Given the description of an element on the screen output the (x, y) to click on. 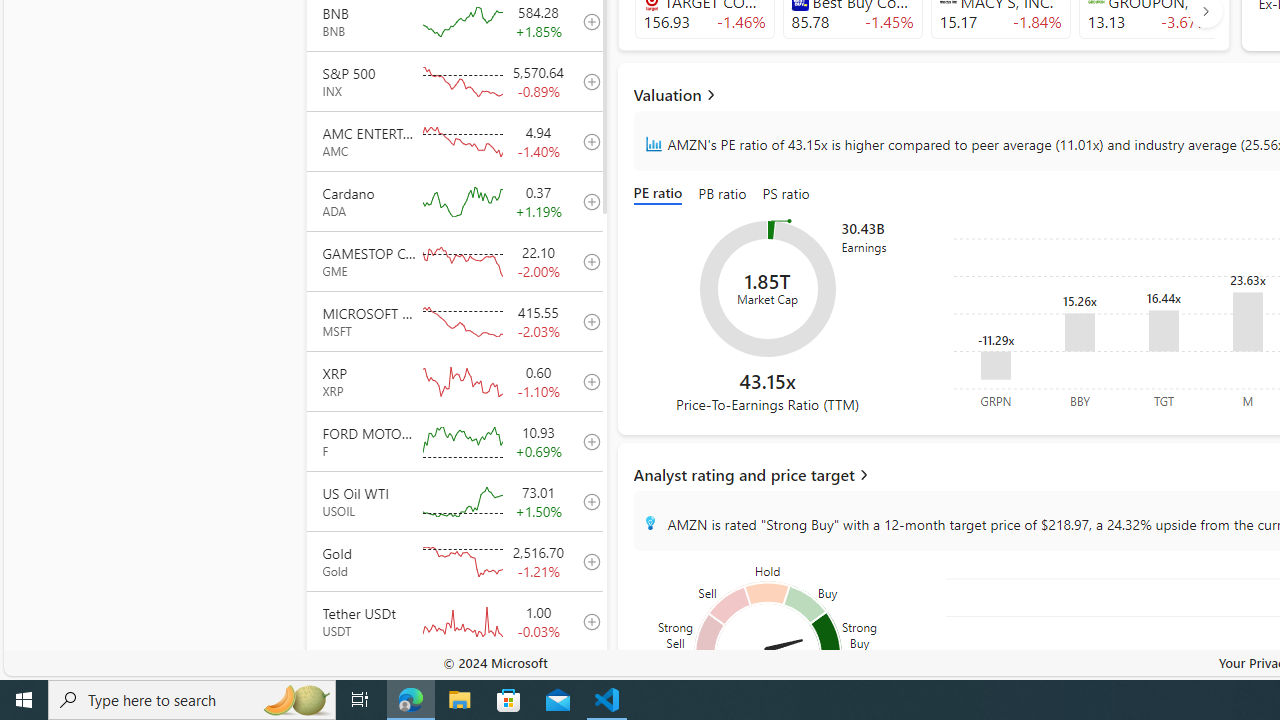
AutomationID: finance_carousel_navi_arrow (1205, 10)
PB ratio (722, 194)
Class: recharts-surface (767, 288)
PS ratio (785, 194)
PE ratio (662, 194)
